Given the description of an element on the screen output the (x, y) to click on. 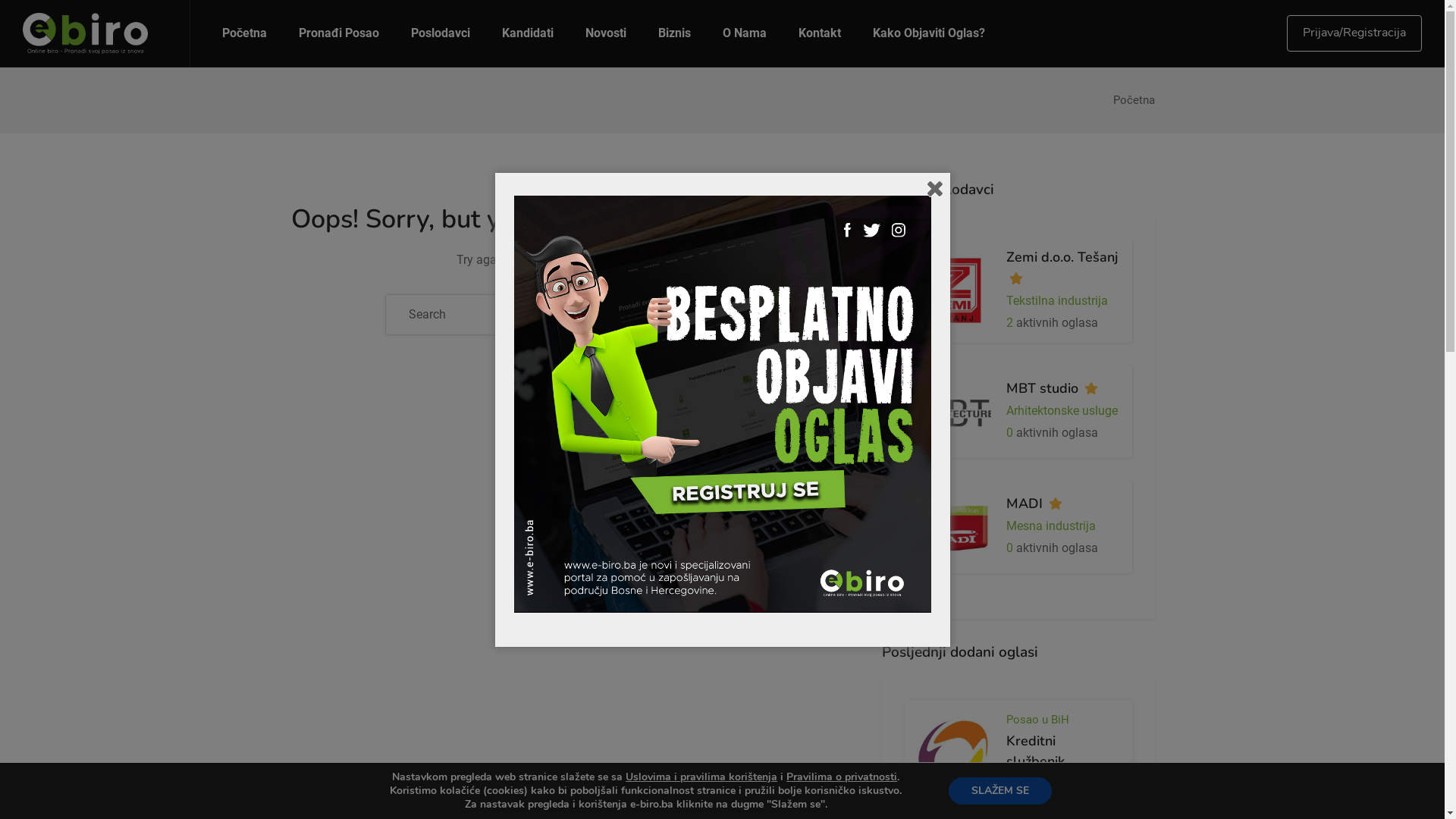
Posao u BiH Element type: text (1037, 719)
Kontakt Element type: text (819, 33)
MADI Element type: text (1024, 503)
Arhitektonske usluge Element type: text (1061, 410)
Tekstilna industrija Element type: text (1056, 300)
Pravilima o privatnosti Element type: text (841, 776)
O Nama Element type: text (744, 33)
Poslodavci Element type: text (440, 33)
Novosti Element type: text (605, 33)
Biznis Element type: text (674, 33)
Mesna industrija Element type: text (1050, 525)
Kandidati Element type: text (527, 33)
MBT studio Element type: text (1042, 388)
Prijava/Registracija Element type: text (1353, 32)
Kako Objaviti Oglas? Element type: text (928, 33)
